Given the description of an element on the screen output the (x, y) to click on. 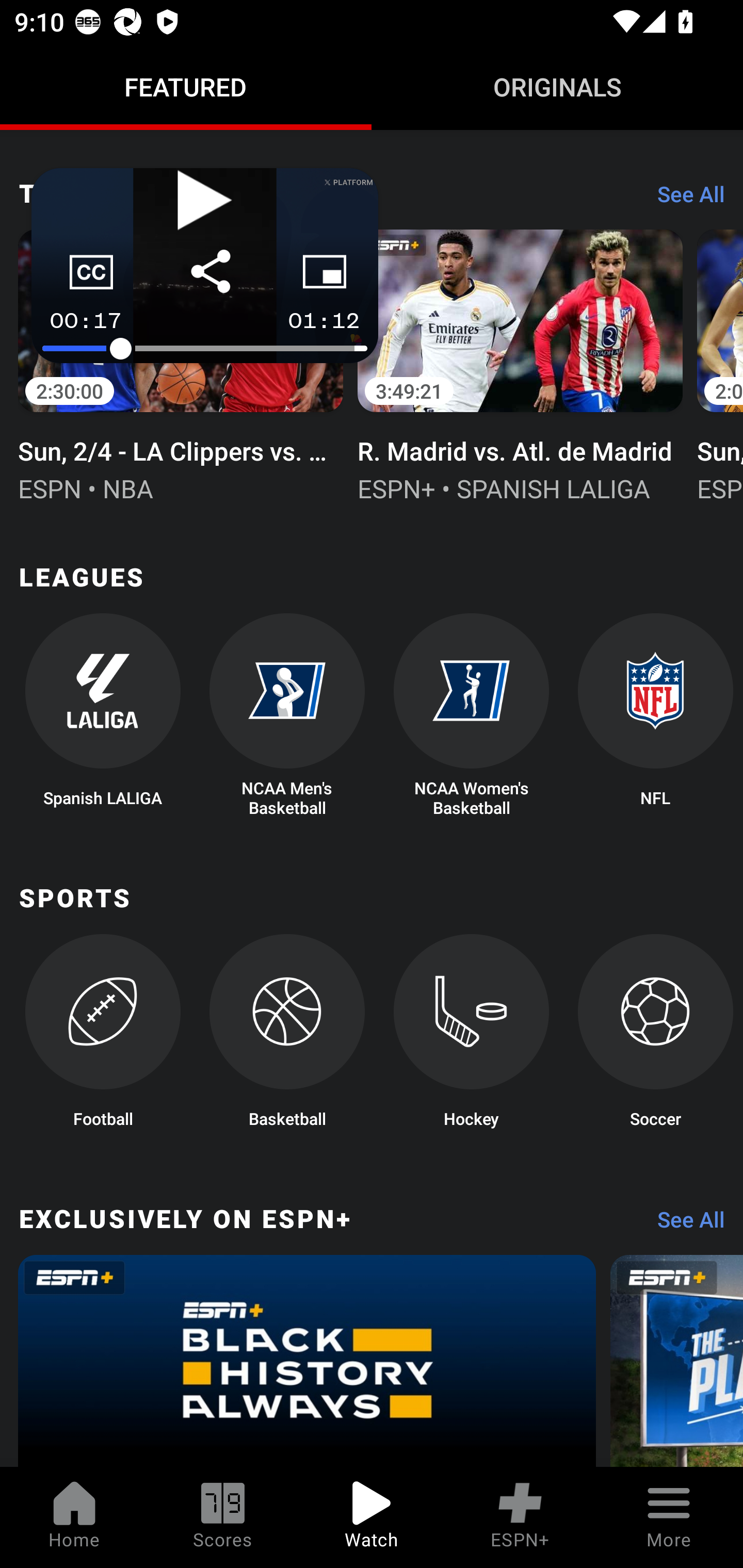
Originals ORIGINALS (557, 86)
See All (683, 198)
Spanish LALIGA (102, 715)
NCAA Men's Basketball (286, 715)
NCAA Women's Basketball (471, 715)
NFL (655, 715)
Football (102, 1036)
Basketball (286, 1036)
Hockey (471, 1036)
Soccer (655, 1036)
See All (683, 1224)
Home (74, 1517)
Scores (222, 1517)
ESPN+ (519, 1517)
More (668, 1517)
